Given the description of an element on the screen output the (x, y) to click on. 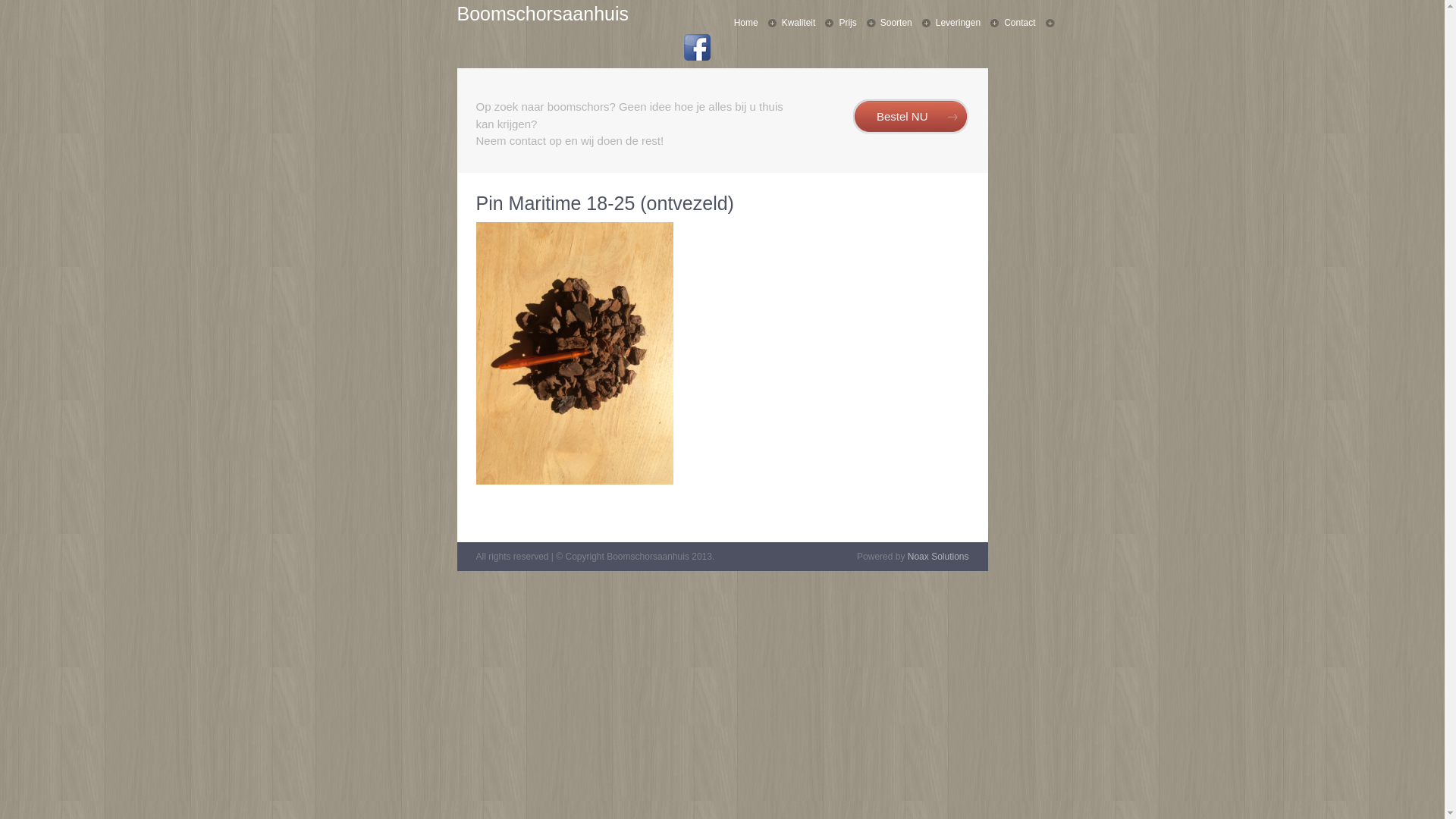
Prijs Element type: text (854, 22)
Soorten Element type: text (903, 22)
Contact Element type: text (1026, 22)
Kwaliteit Element type: text (805, 22)
Skip to main content Element type: text (667, 0)
Noax Solutions Element type: text (938, 556)
Bestel NU Element type: text (910, 116)
Home Element type: text (753, 22)
Leveringen Element type: text (965, 22)
Boomschorsaanhuis Element type: text (542, 13)
